Given the description of an element on the screen output the (x, y) to click on. 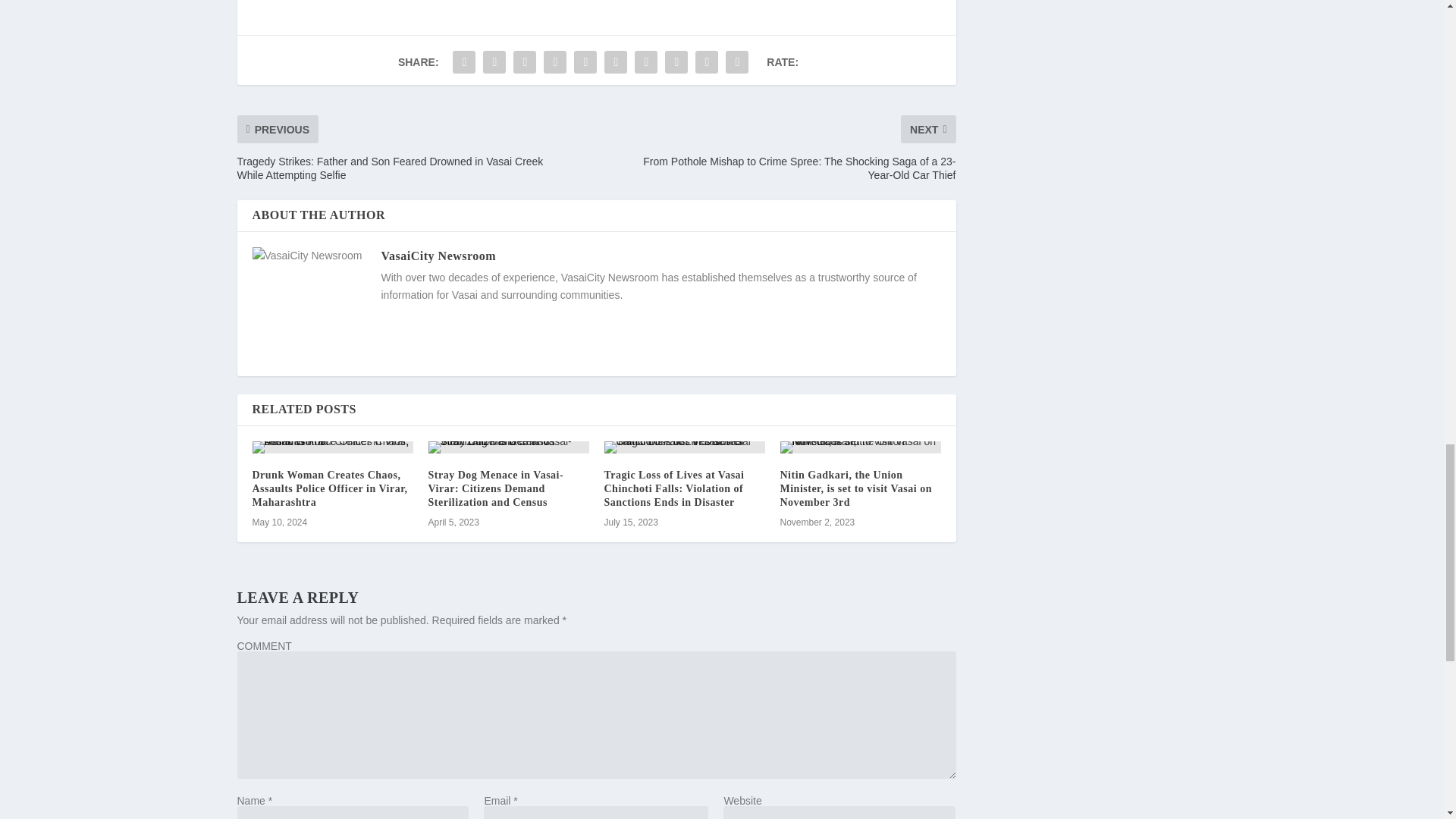
VasaiCity Newsroom (438, 255)
